Given the description of an element on the screen output the (x, y) to click on. 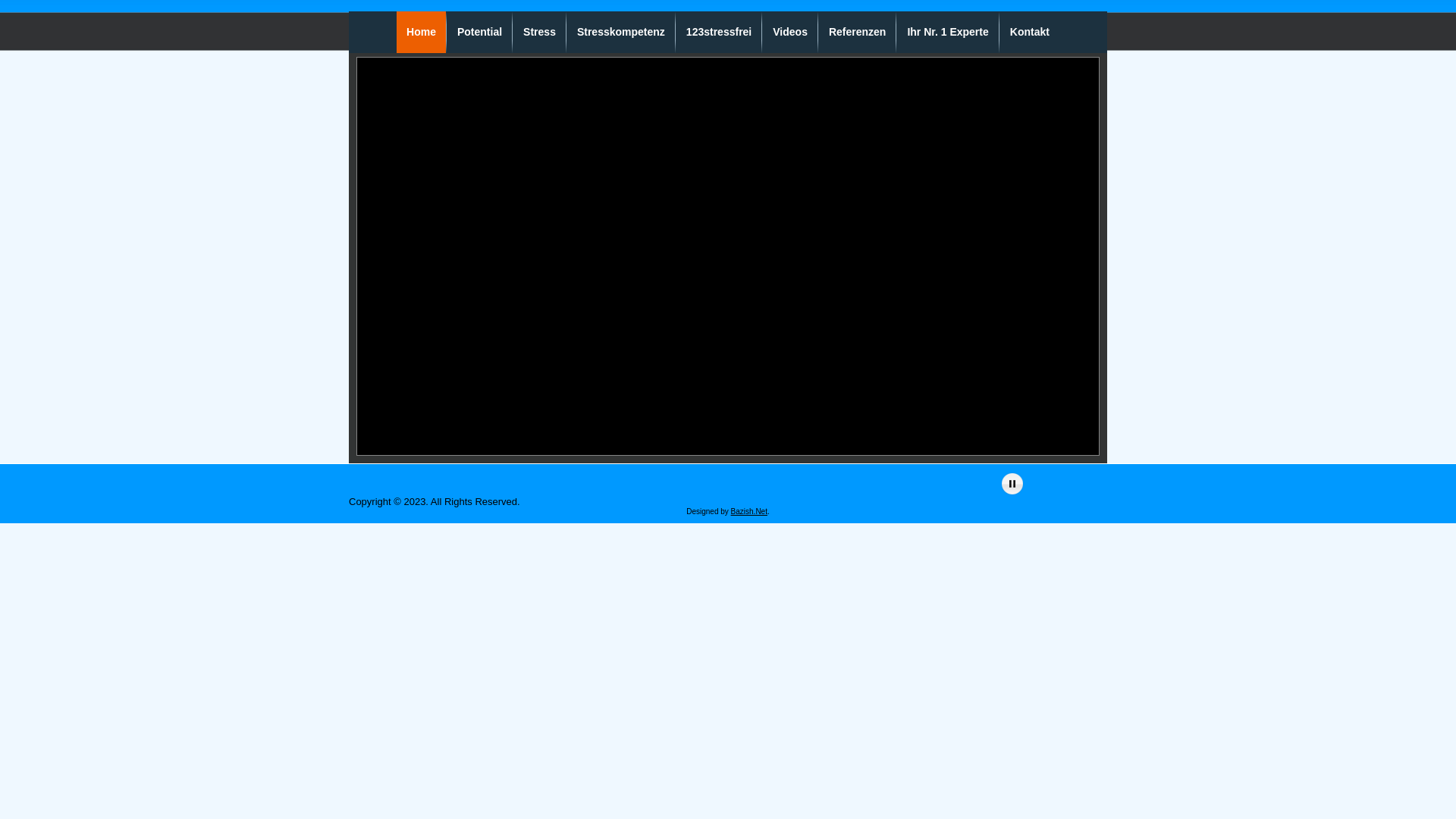
123stressfrei Element type: text (718, 32)
Kontakt Element type: text (1029, 32)
Videos Element type: text (789, 32)
Potential Element type: text (479, 32)
Home Element type: text (420, 32)
Referenzen Element type: text (857, 32)
Stresskompetenz Element type: text (620, 32)
Bazish.Net Element type: text (749, 511)
Ihr Nr. 1 Experte Element type: text (947, 32)
Stress Element type: text (539, 32)
